Given the description of an element on the screen output the (x, y) to click on. 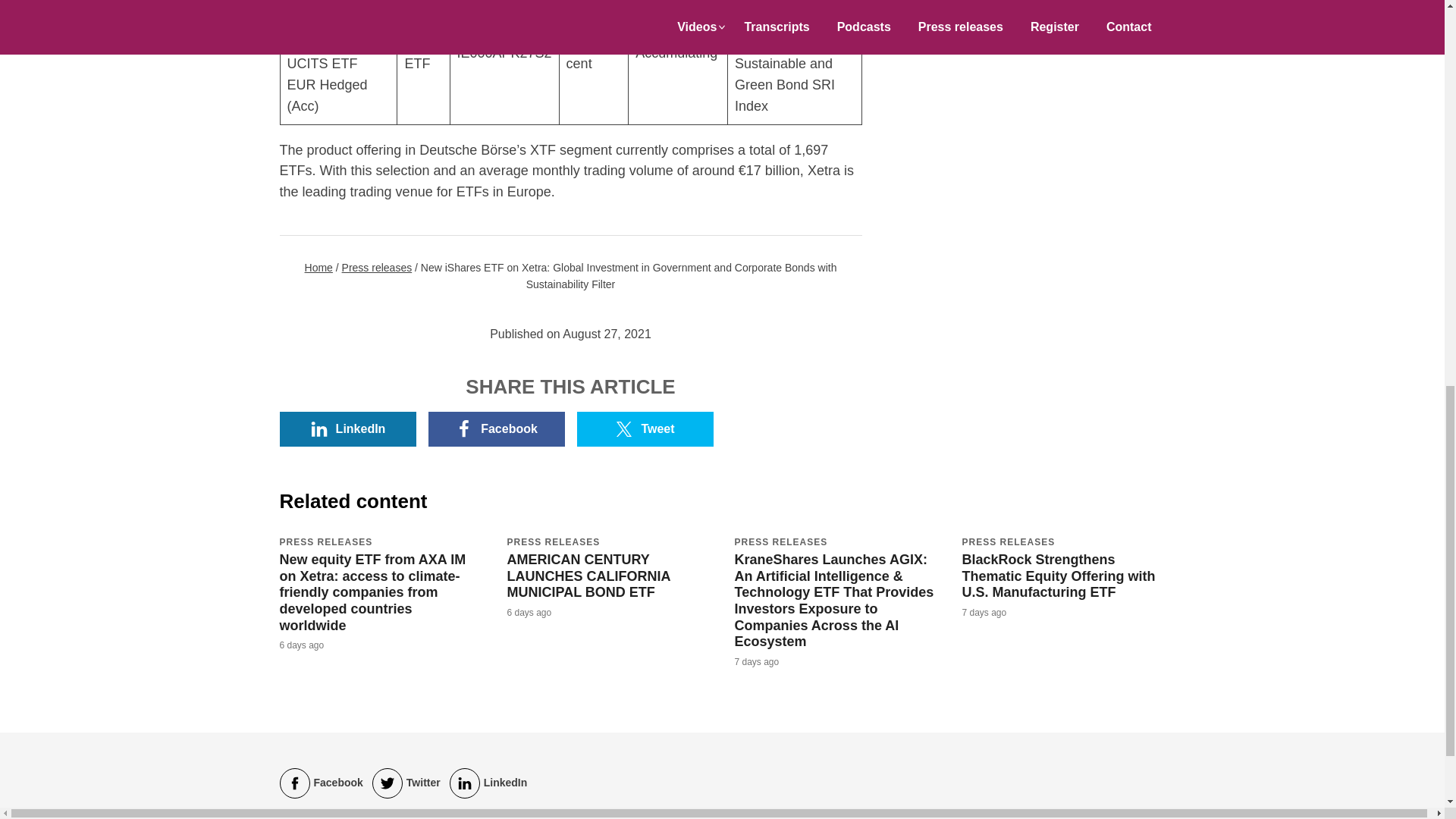
PRESS RELEASES (1007, 542)
LinkedIn (488, 783)
Share on Facebook (496, 429)
LinkedIn (346, 429)
Home (318, 267)
PRESS RELEASES (780, 542)
Facebook (496, 429)
Tweet (644, 429)
AMERICAN CENTURY LAUNCHES CALIFORNIA MUNICIPAL BOND ETF (587, 575)
Press releases (377, 267)
Share on LinkedIn (346, 429)
Twitter (406, 783)
Share on Twitter (644, 429)
